Given the description of an element on the screen output the (x, y) to click on. 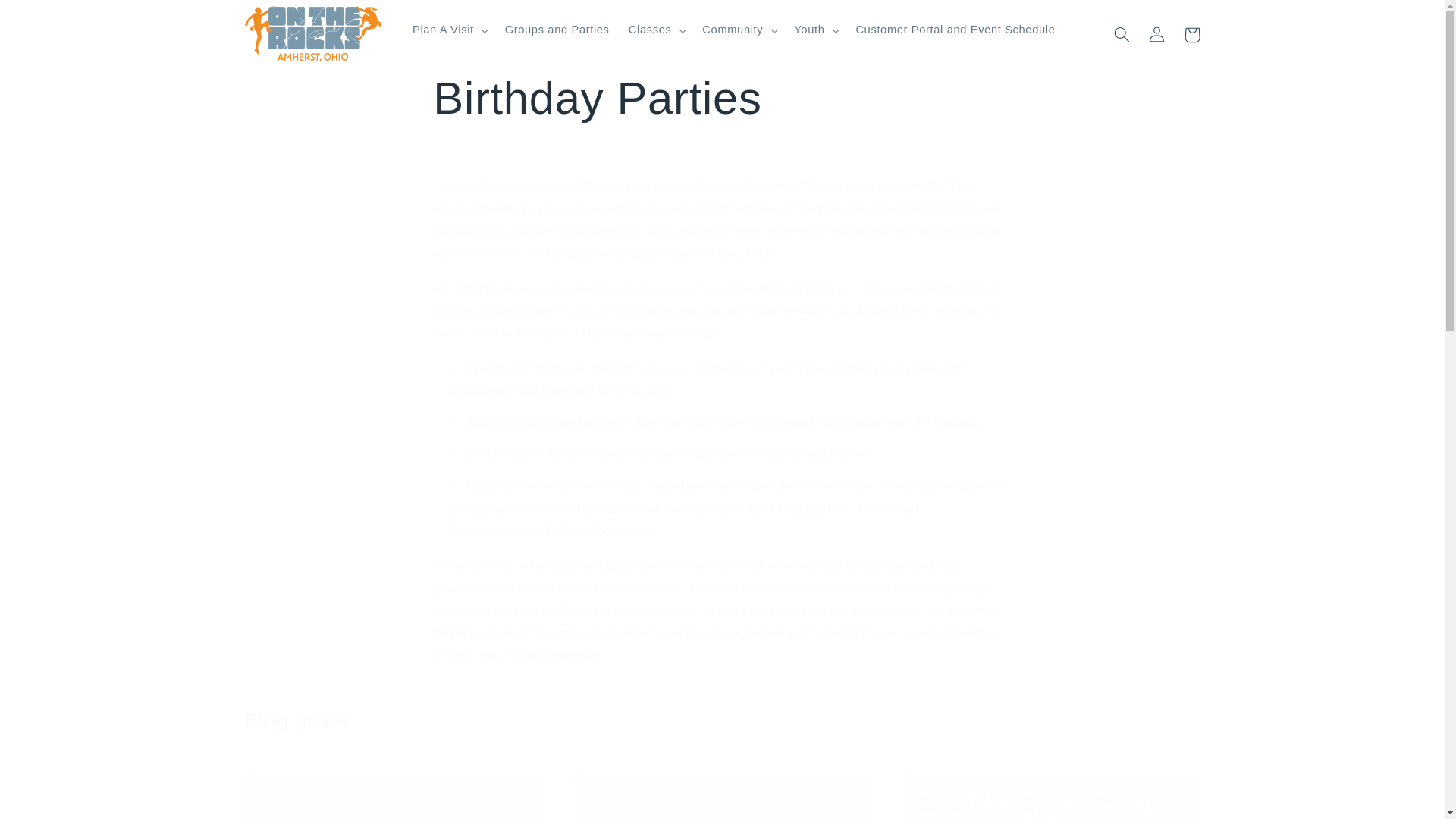
Groups and Parties (556, 29)
Skip to content (48, 18)
Birthday Parties (721, 98)
Blog posts (295, 719)
